Given the description of an element on the screen output the (x, y) to click on. 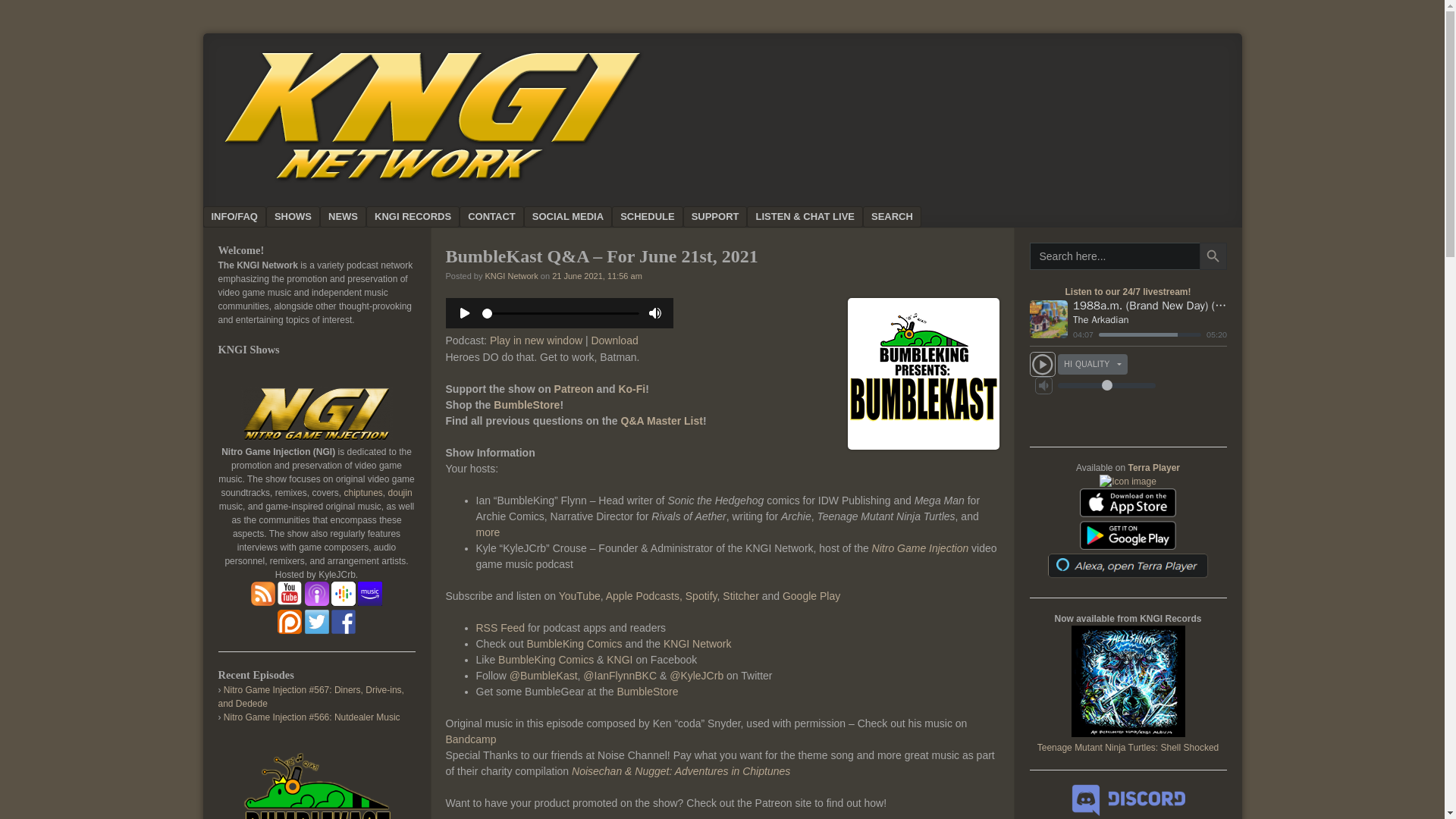
KNGI Network (510, 275)
SOCIAL MEDIA (567, 216)
Play in new window (535, 340)
CONTACT (492, 216)
SUPPORT (715, 216)
Download (614, 340)
SHOWS (293, 216)
SEARCH (892, 216)
SKIP TO CONTENT (255, 216)
KNGI RECORDS (413, 216)
Play (558, 324)
Skip to content (255, 216)
KNGI Network (430, 181)
View all posts by KNGI Network (510, 275)
Play (558, 313)
